Given the description of an element on the screen output the (x, y) to click on. 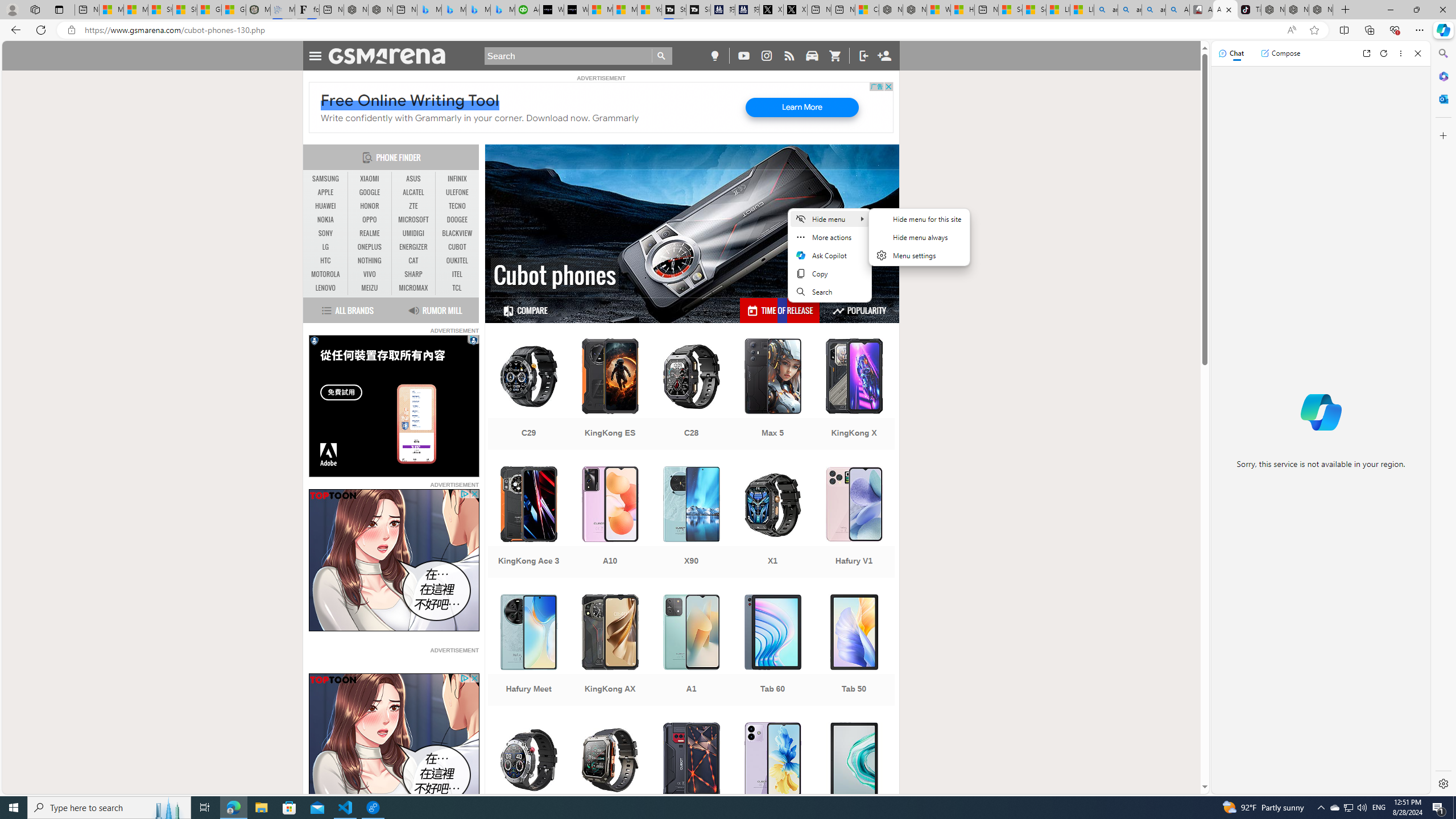
CUBOT (457, 246)
Max 5 (772, 395)
Settings (1442, 783)
XIAOMI (369, 178)
Copy (828, 273)
Open link in new tab (1366, 53)
ENERGIZER (413, 246)
BLACKVIEW (457, 233)
DOOGEE (457, 219)
ONEPLUS (369, 246)
